Given the description of an element on the screen output the (x, y) to click on. 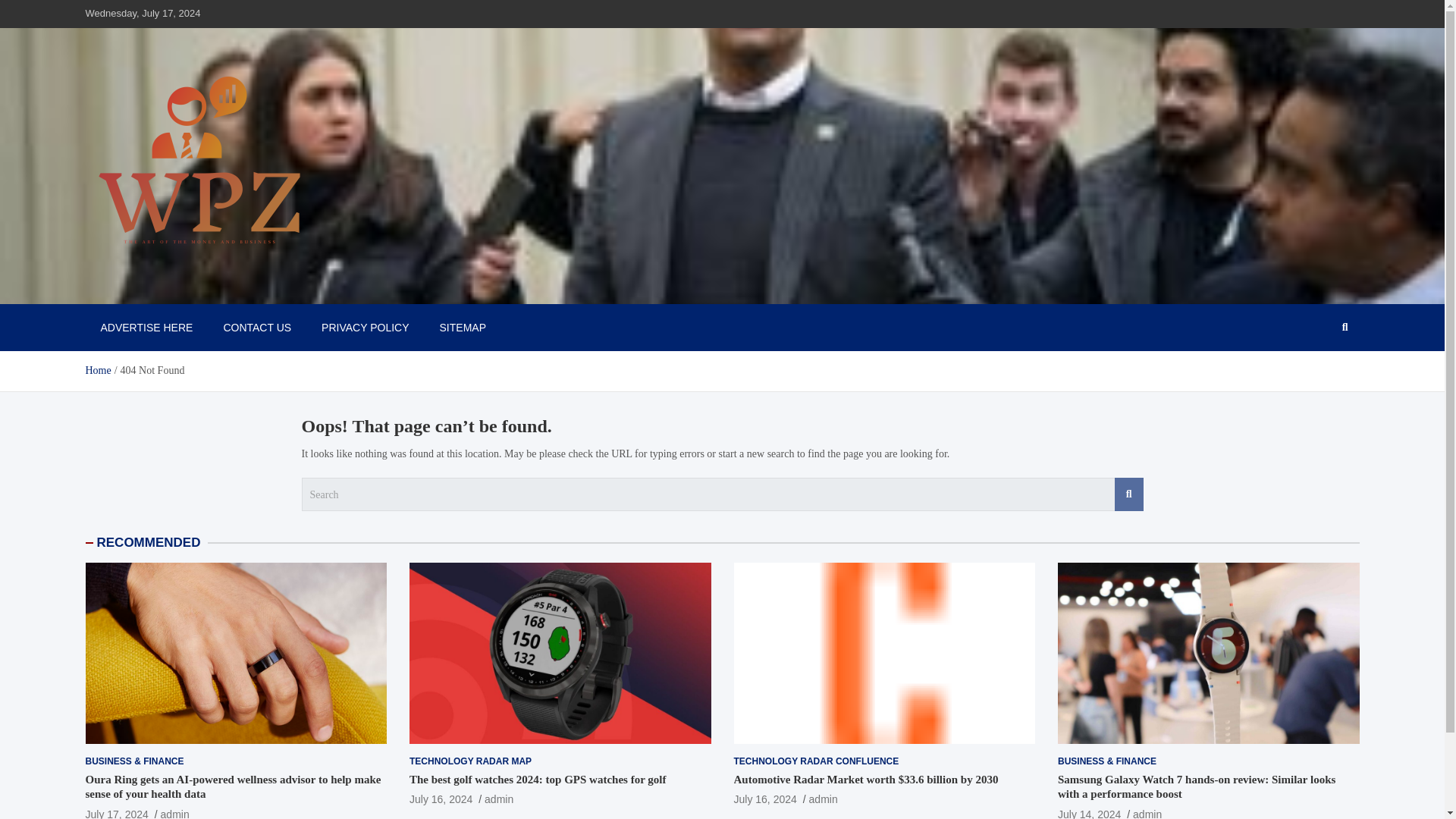
admin (1146, 813)
admin (823, 799)
admin (174, 813)
July 14, 2024 (1089, 813)
July 16, 2024 (764, 799)
The best golf watches 2024: top GPS watches for golf (440, 799)
TECHNOLOGY RADAR MAP (470, 761)
CONTACT US (256, 327)
TECHNOLOGY RADAR CONFLUENCE (816, 761)
ADVERTISE HERE (146, 327)
July 17, 2024 (116, 813)
SITEMAP (462, 327)
PRIVACY POLICY (364, 327)
The best golf watches 2024: top GPS watches for golf (537, 779)
